Given the description of an element on the screen output the (x, y) to click on. 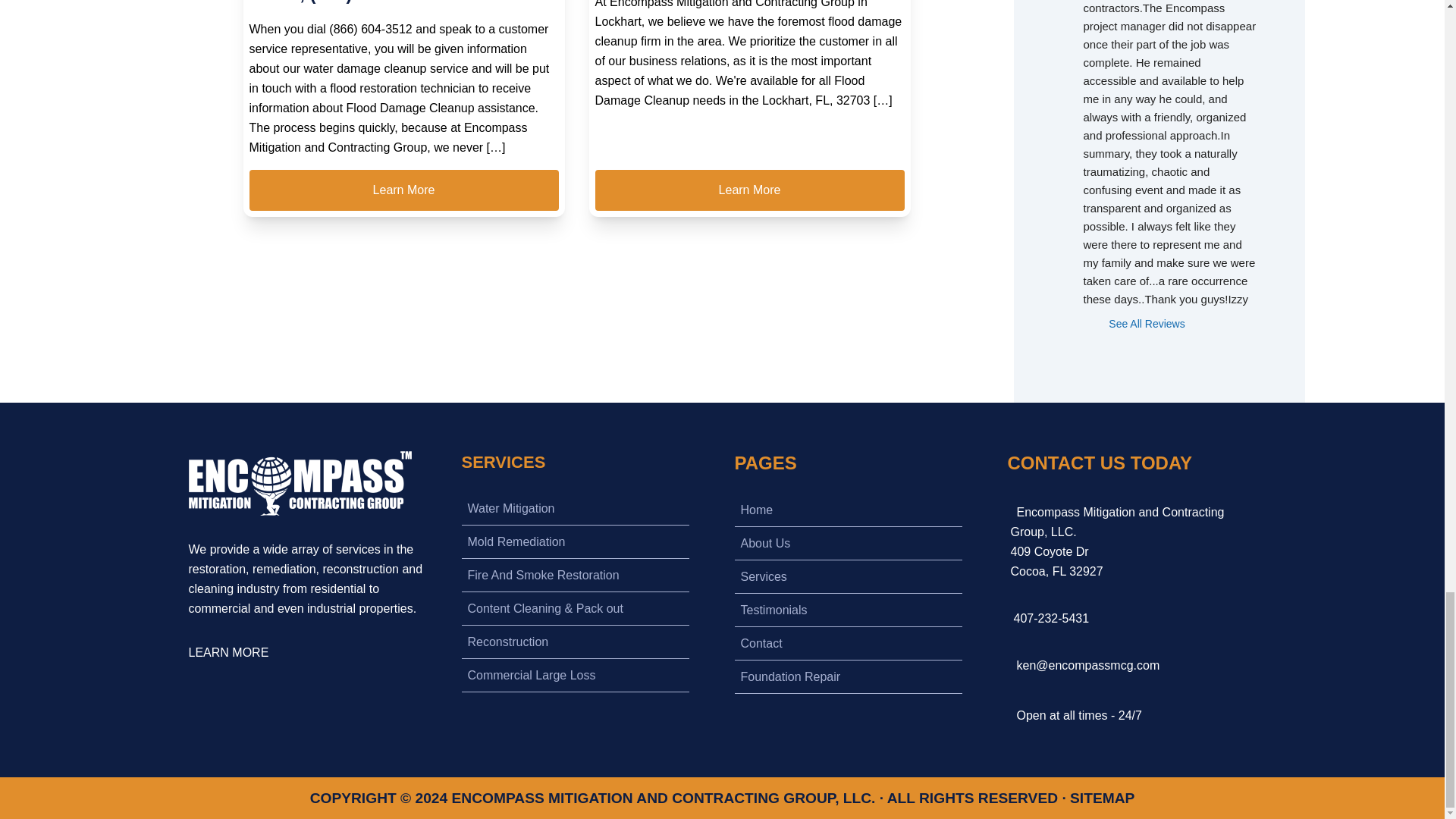
Learn More (402, 189)
Learn More (749, 189)
